Given the description of an element on the screen output the (x, y) to click on. 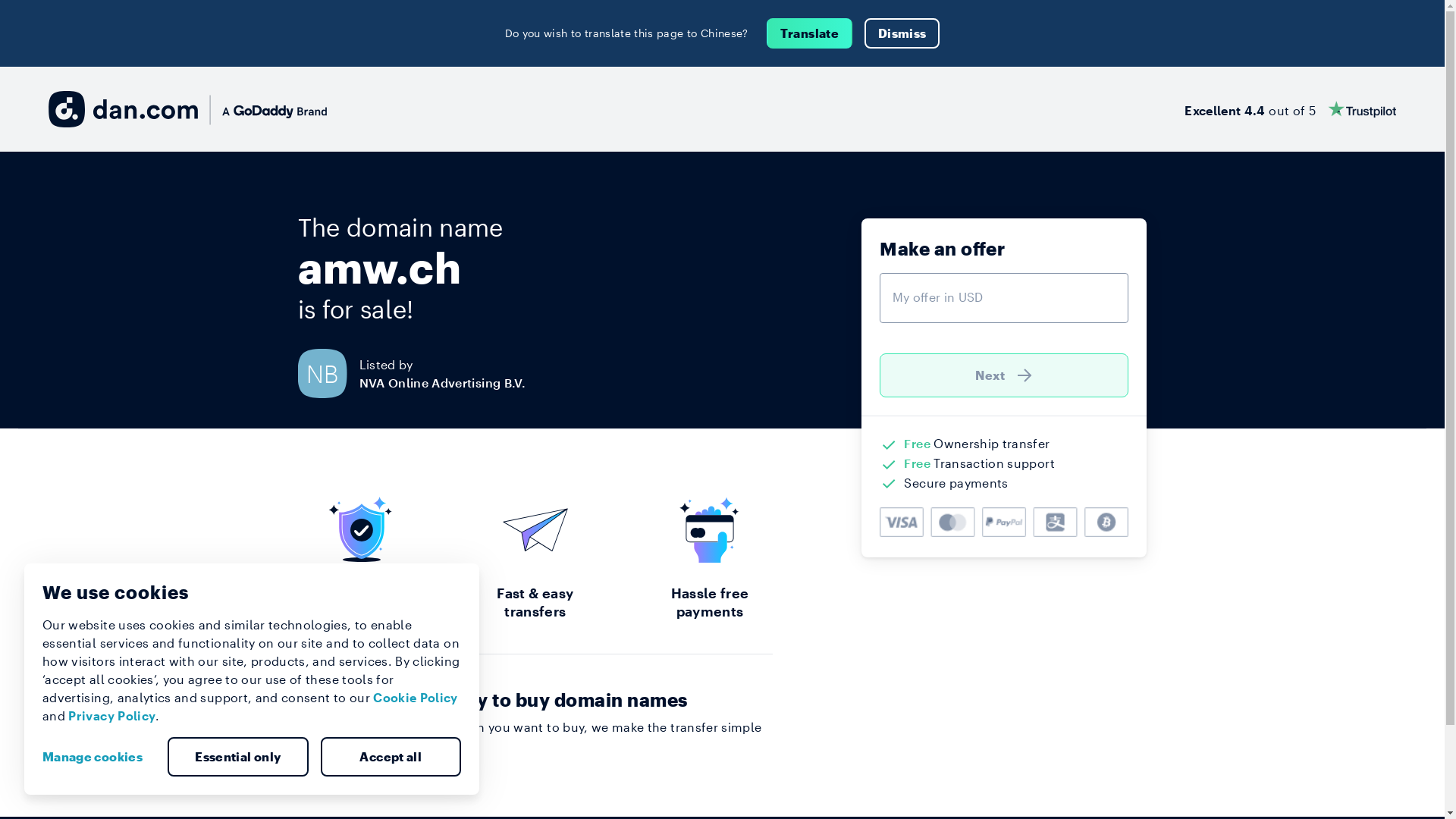
Manage cookies Element type: text (98, 756)
Next
) Element type: text (1003, 375)
Excellent 4.4 out of 5 Element type: text (1290, 109)
Cookie Policy Element type: text (415, 697)
Translate Element type: text (809, 33)
Essential only Element type: text (237, 756)
Accept all Element type: text (390, 756)
Privacy Policy Element type: text (111, 715)
Dismiss Element type: text (901, 33)
